Given the description of an element on the screen output the (x, y) to click on. 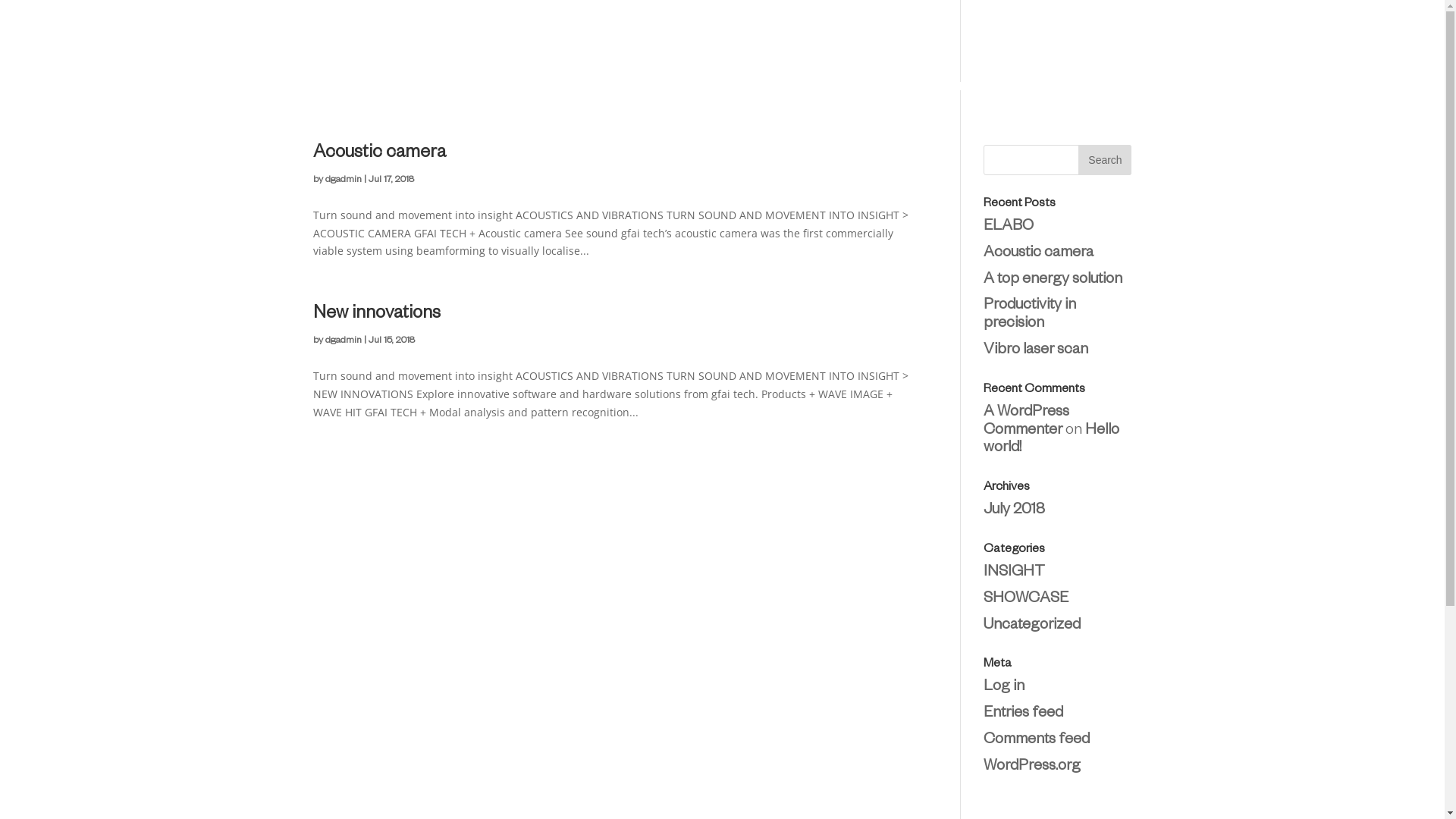
A top energy solution Element type: text (1052, 280)
Search Element type: text (1104, 159)
Acoustic camera Element type: text (378, 154)
OUR PARTNERS Element type: text (883, 86)
SOLUTIONS Element type: text (694, 86)
SHOWCASE Element type: text (1025, 599)
A WordPress Commenter Element type: text (1026, 421)
dgadmin Element type: text (342, 340)
dgadmin Element type: text (342, 180)
SHOWCASE Element type: text (988, 86)
Entries feed Element type: text (1023, 714)
Acoustic camera Element type: text (1038, 253)
ELABO Element type: text (1008, 227)
INSIGHT Element type: text (1013, 572)
Uncategorized Element type: text (1031, 626)
SERVICES Element type: text (785, 86)
New innovations Element type: text (375, 315)
WordPress.org Element type: text (1031, 767)
+61 (0)2 9683 4008 Element type: text (1080, 40)
July 2018 Element type: text (1013, 510)
Comments feed Element type: text (1036, 740)
Vibro laser scan Element type: text (1035, 350)
Hello world! Element type: text (1051, 440)
CONTACT US Element type: text (1088, 86)
Productivity in precision Element type: text (1029, 315)
Log in Element type: text (1003, 687)
